Given the description of an element on the screen output the (x, y) to click on. 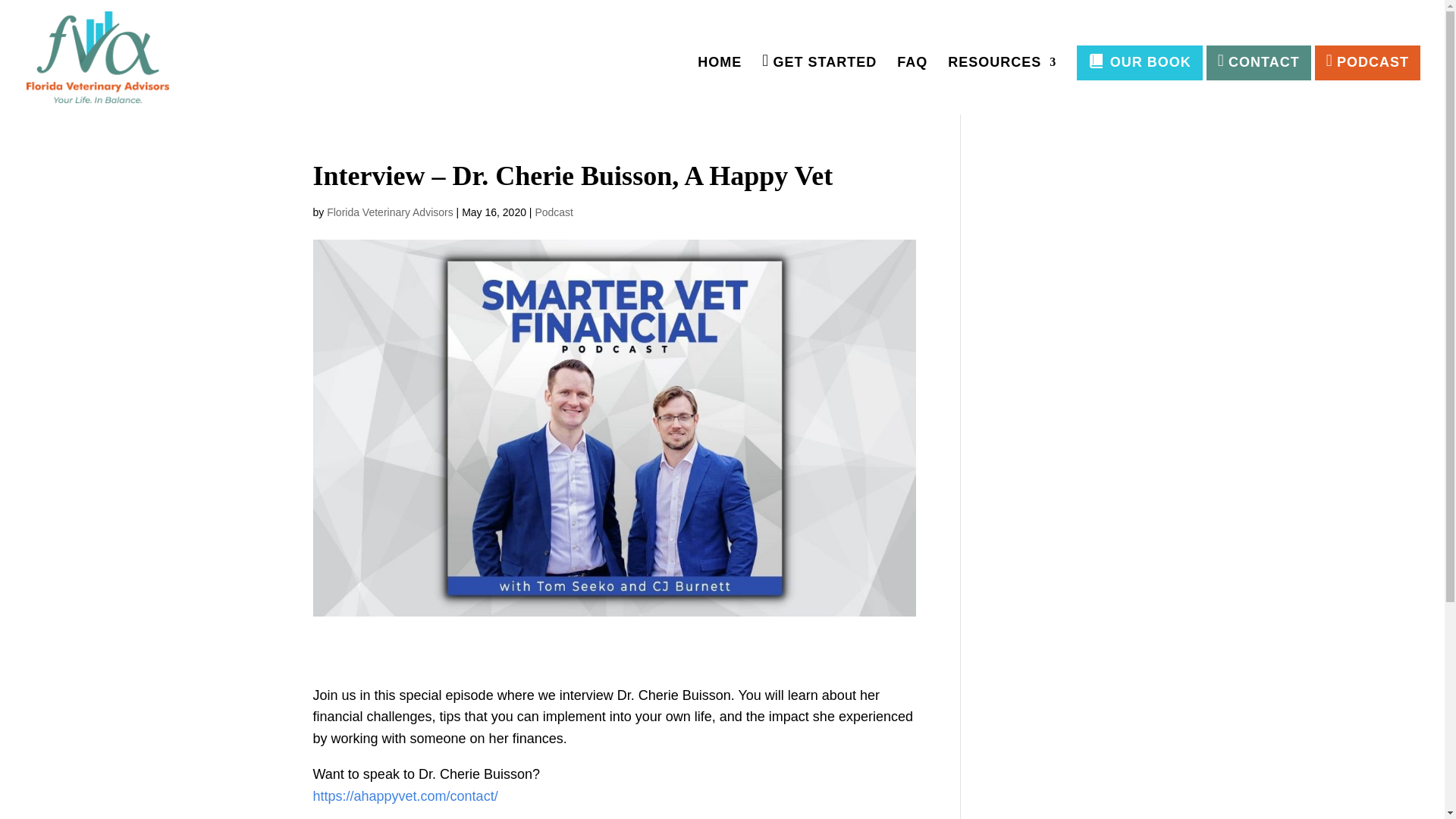
Florida Veterinary Advisors (389, 212)
RESOURCES (1002, 84)
OUR BOOK (1139, 62)
PODCAST (1367, 62)
GET STARTED (818, 85)
Podcast (553, 212)
Posts by Florida Veterinary Advisors (389, 212)
CONTACT (1259, 62)
